Given the description of an element on the screen output the (x, y) to click on. 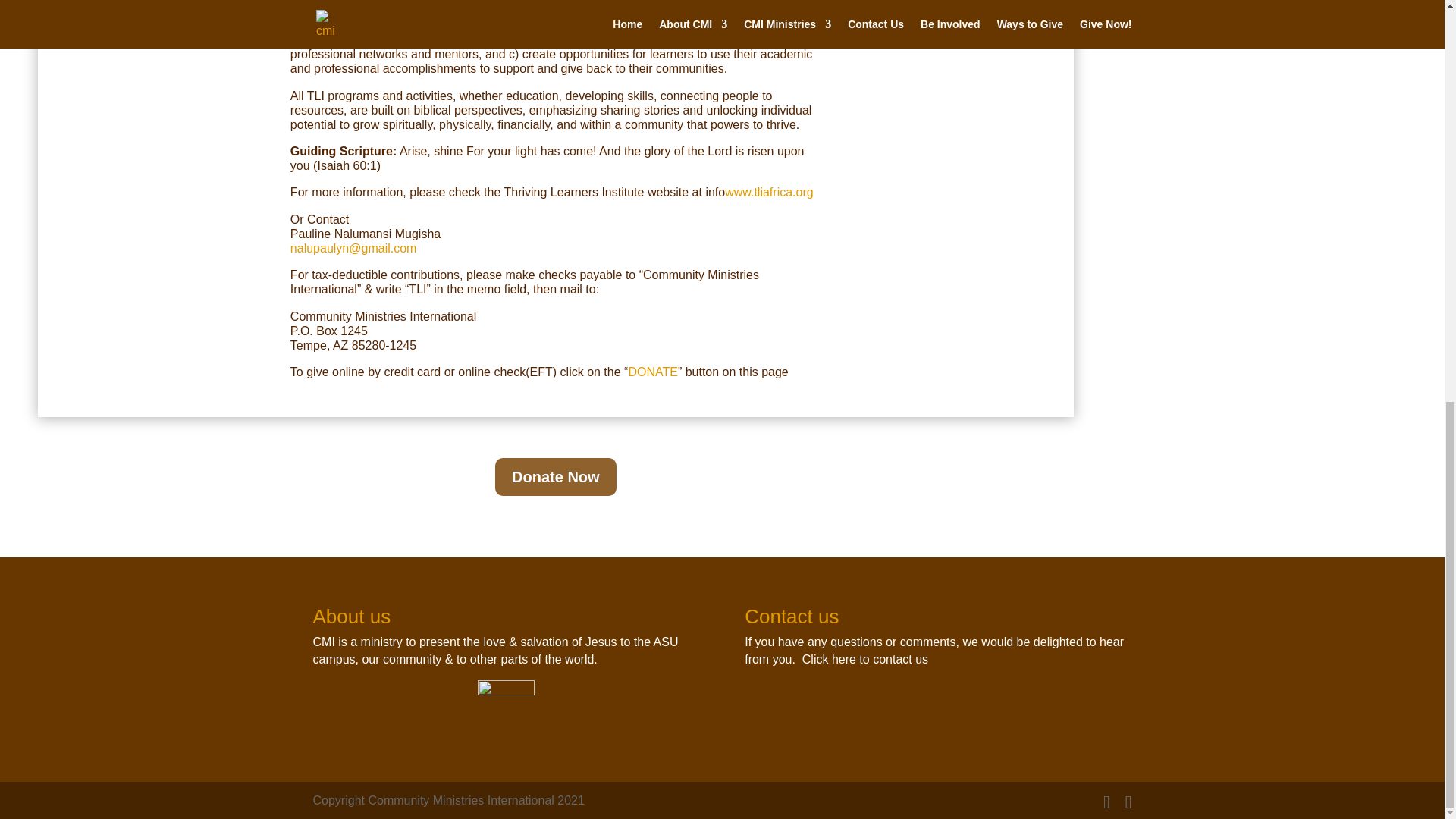
DONATE (652, 371)
www.tliafrica.org (768, 192)
